Given the description of an element on the screen output the (x, y) to click on. 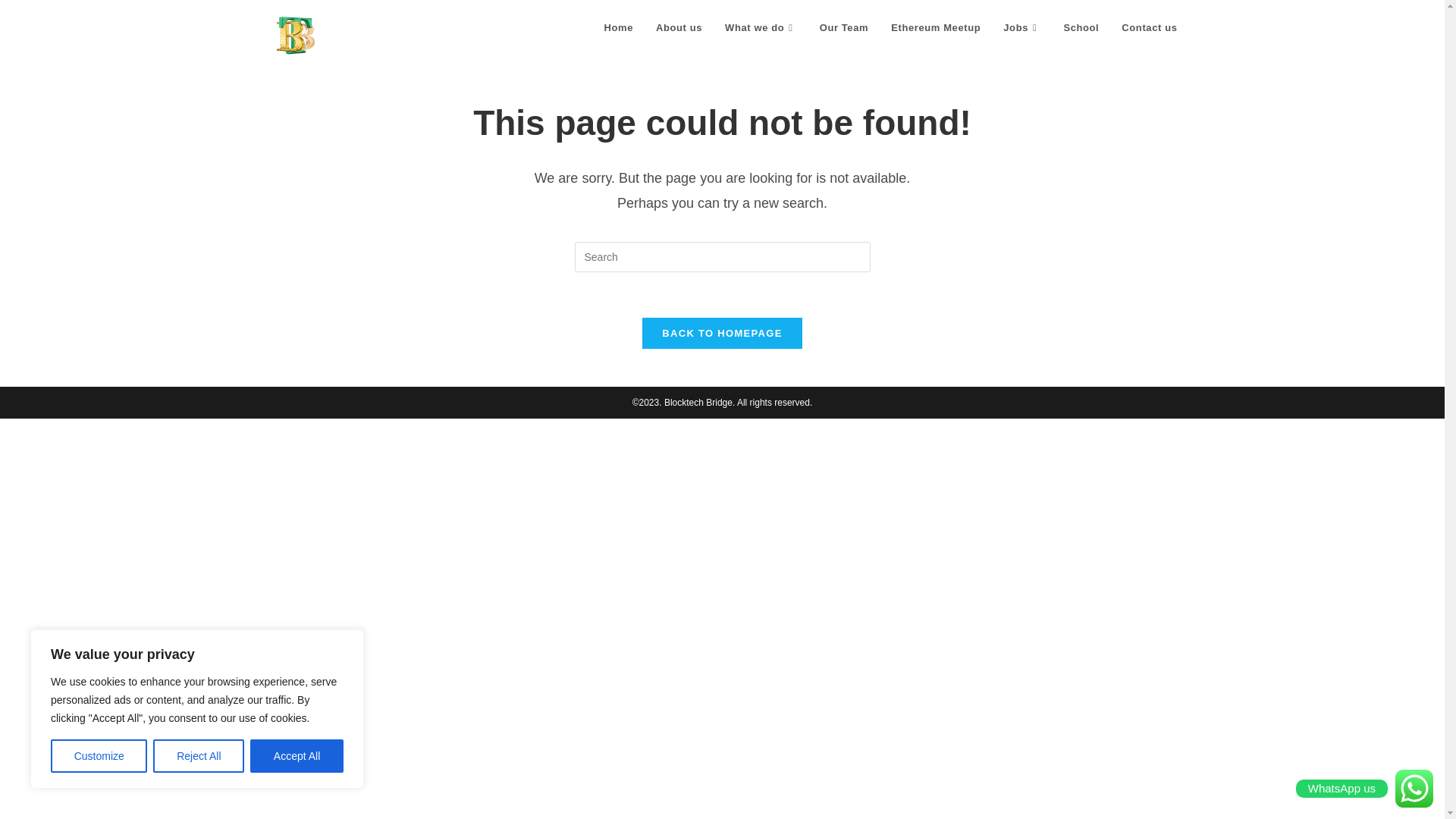
Ethereum Meetup (935, 28)
Contact us (1148, 28)
Jobs (1021, 28)
School (1080, 28)
Home (618, 28)
Our Team (844, 28)
About us (679, 28)
What we do (760, 28)
